Given the description of an element on the screen output the (x, y) to click on. 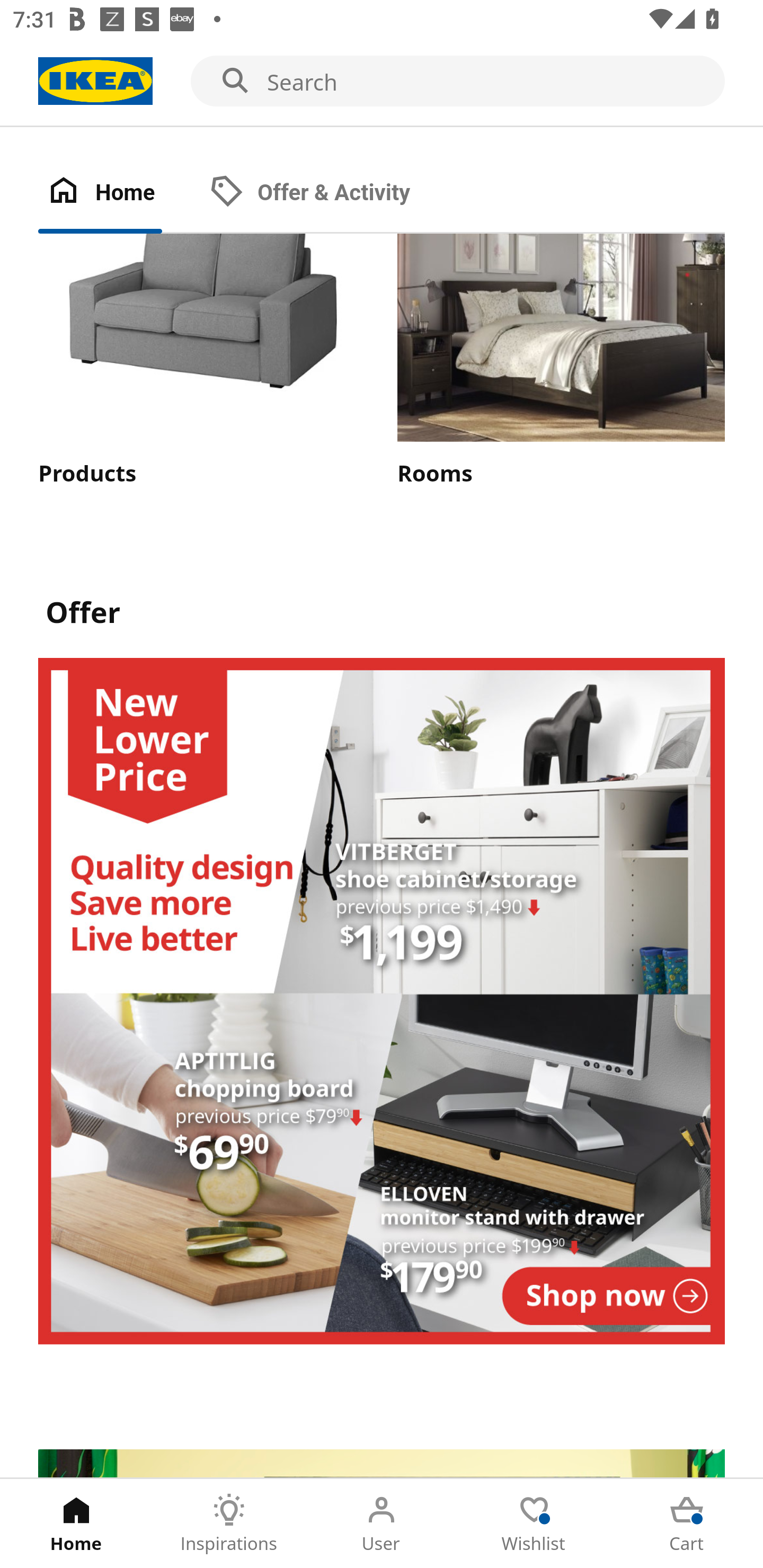
Search (381, 81)
Home
Tab 1 of 2 (118, 192)
Offer & Activity
Tab 2 of 2 (327, 192)
Products (201, 361)
Rooms (560, 361)
Home
Tab 1 of 5 (76, 1522)
Inspirations
Tab 2 of 5 (228, 1522)
User
Tab 3 of 5 (381, 1522)
Wishlist
Tab 4 of 5 (533, 1522)
Cart
Tab 5 of 5 (686, 1522)
